Given the description of an element on the screen output the (x, y) to click on. 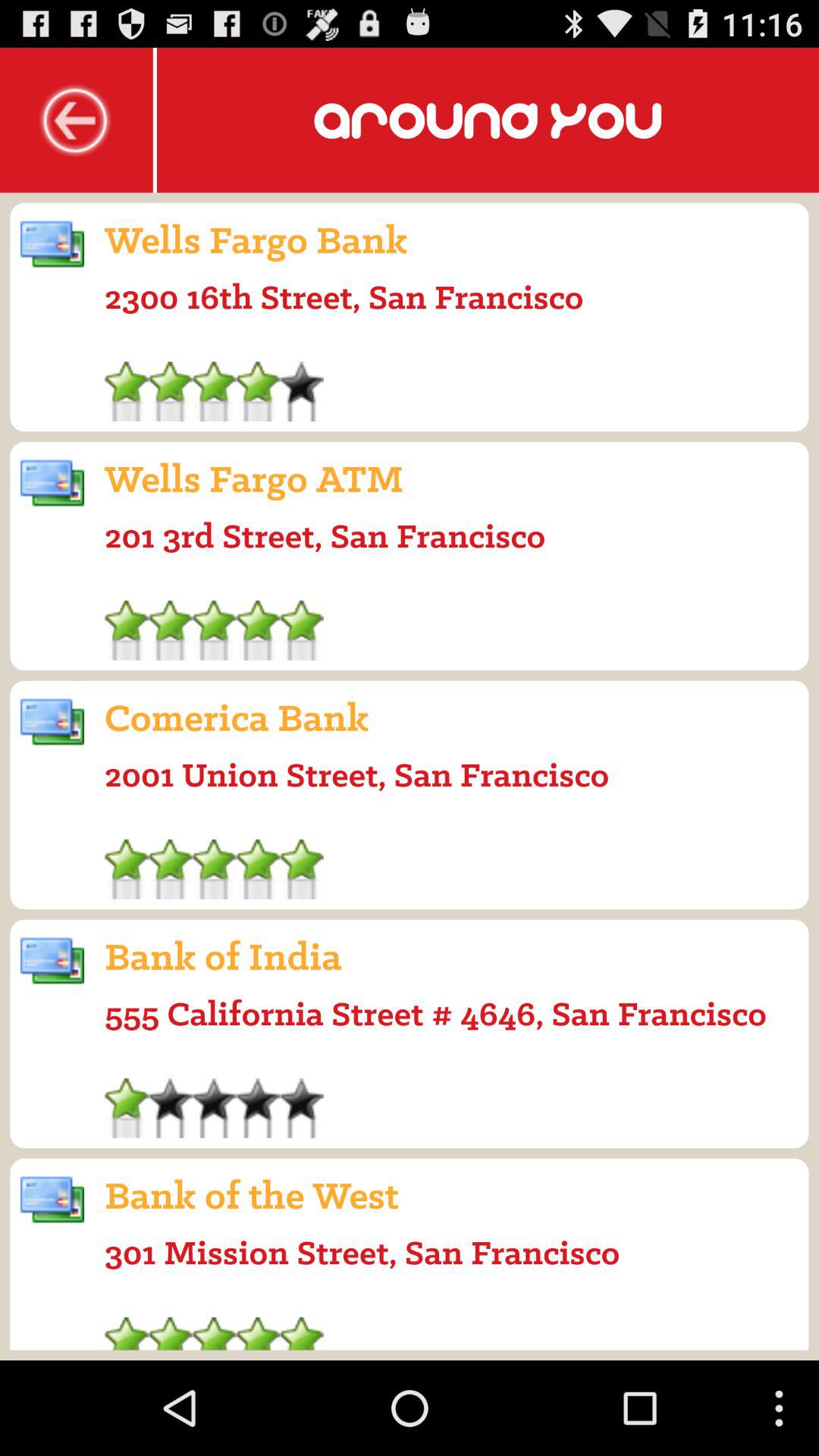
tap the 2300 16th street (343, 296)
